Given the description of an element on the screen output the (x, y) to click on. 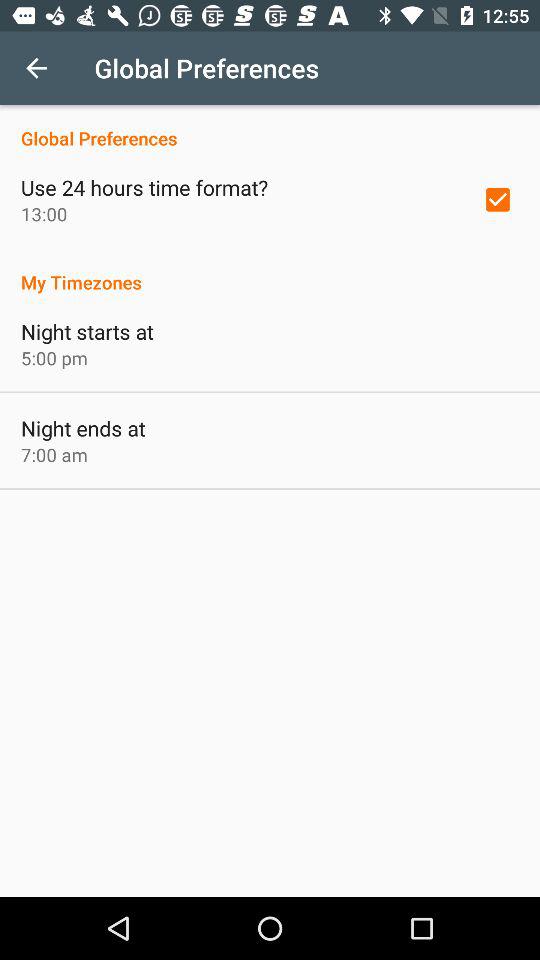
press icon above the 13:00 item (144, 187)
